Given the description of an element on the screen output the (x, y) to click on. 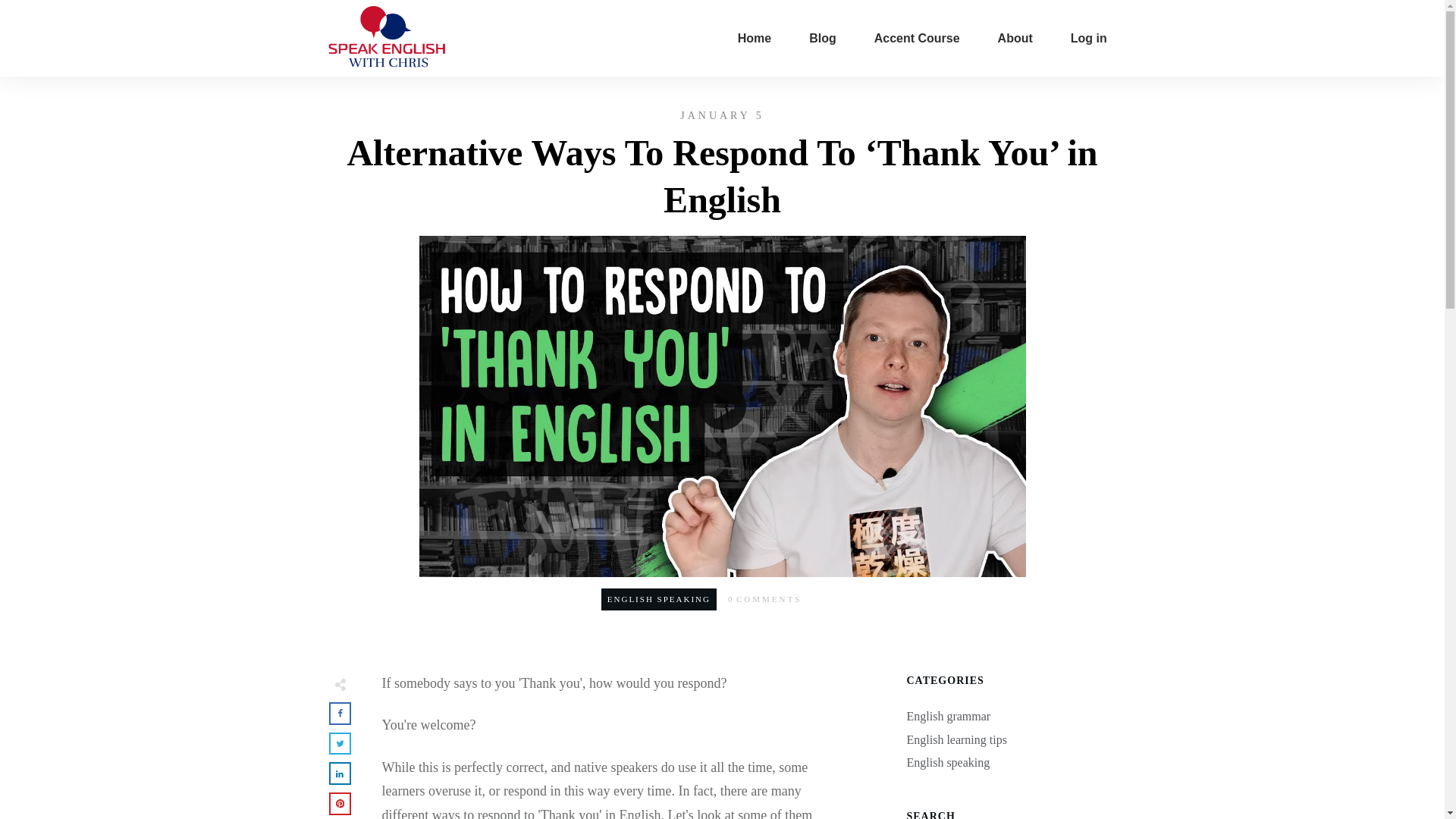
Accent Course (917, 38)
Blog (822, 38)
About (1014, 38)
English grammar (949, 715)
Log in (1088, 38)
English speaking (658, 598)
English learning tips (957, 739)
Home (754, 38)
ENGLISH SPEAKING (658, 598)
English speaking (948, 762)
